Given the description of an element on the screen output the (x, y) to click on. 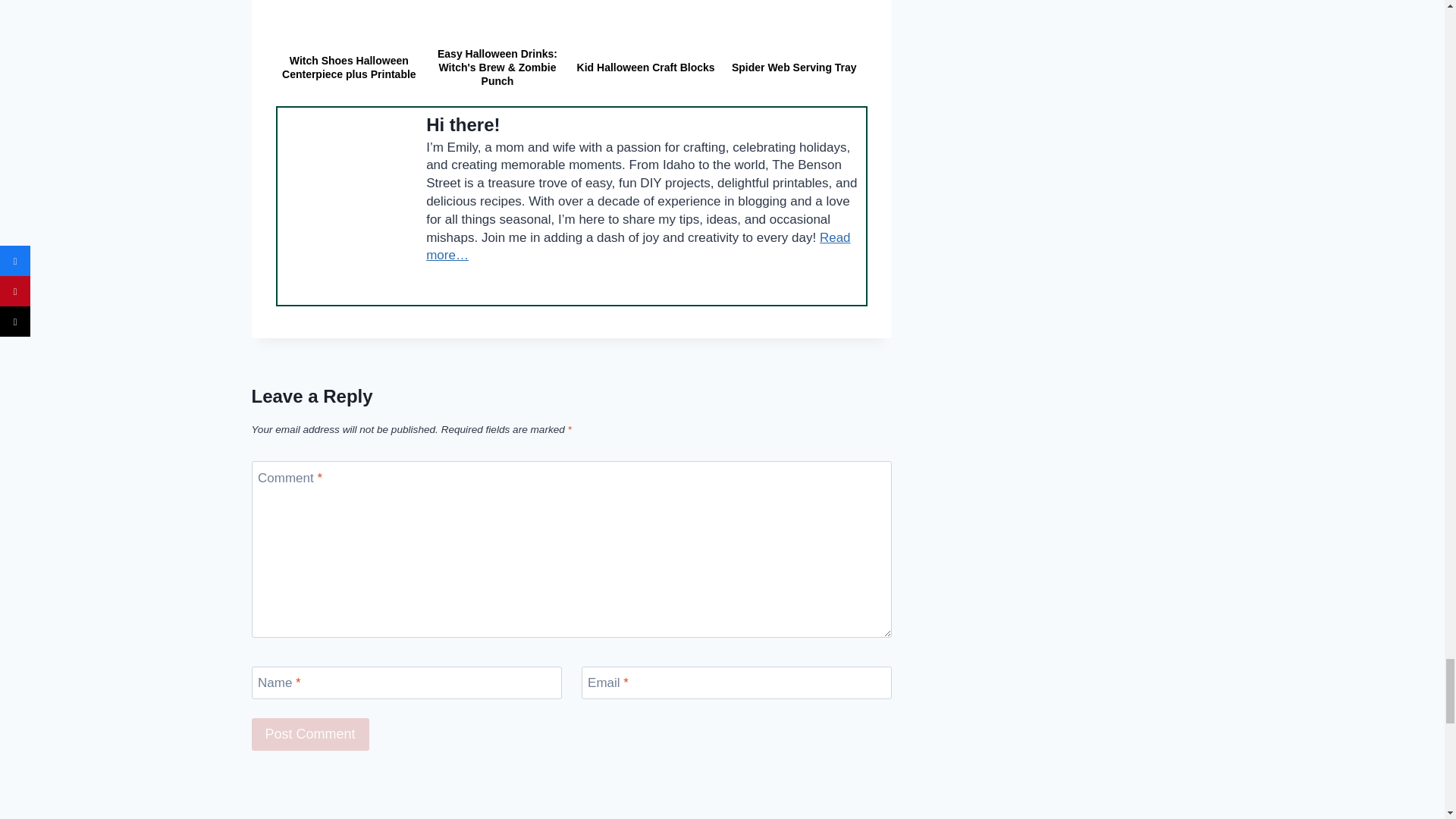
Spider Web Serving Tray (793, 23)
Post Comment (310, 734)
Witch Shoes Halloween Centerpiece plus Printable (349, 23)
Kid Halloween Craft Blocks (646, 23)
